Given the description of an element on the screen output the (x, y) to click on. 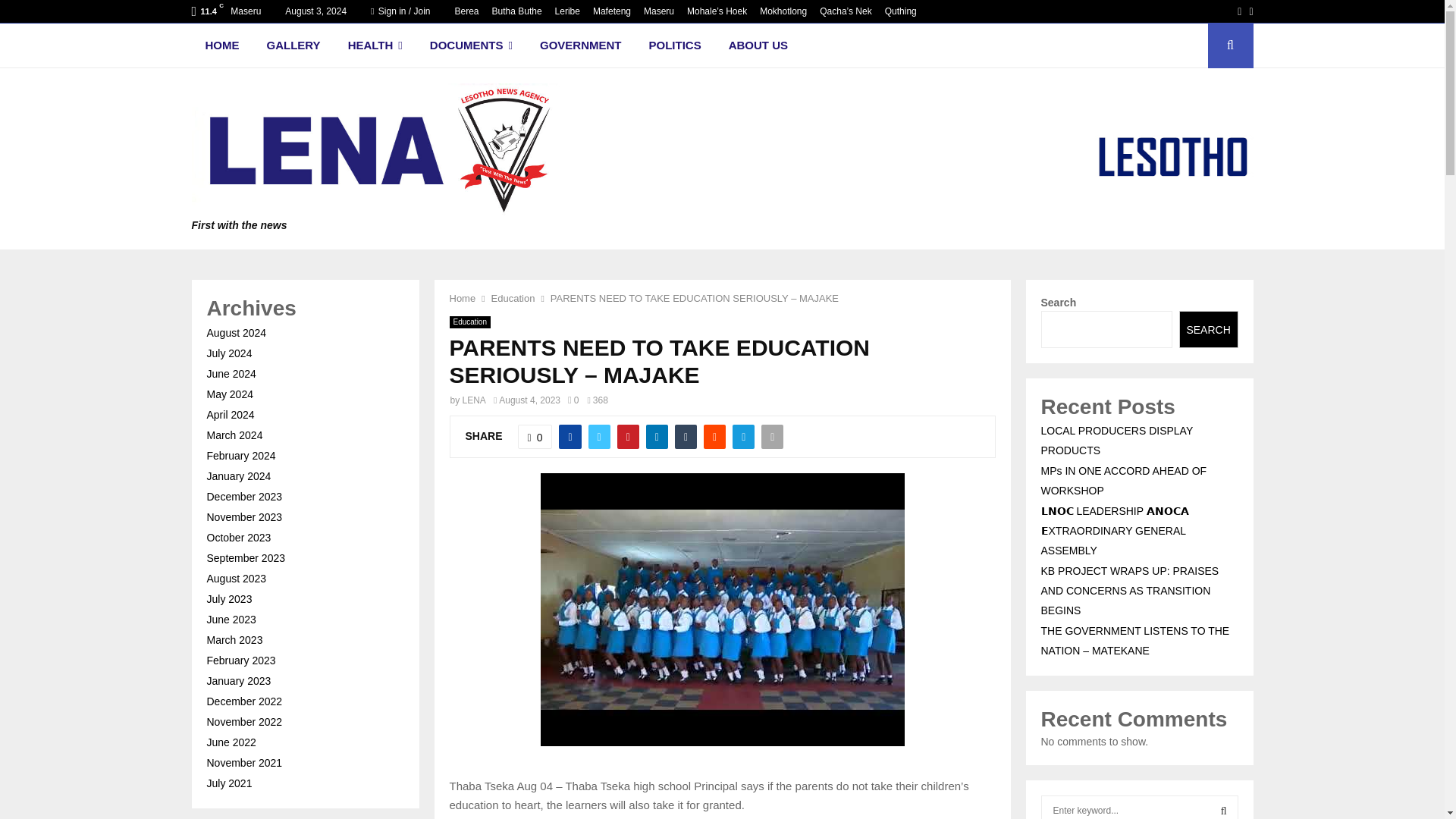
Login to your account (722, 293)
Sign up new account (722, 415)
Maseru (658, 11)
Mafeteng (611, 11)
HEALTH (375, 44)
Mokhotlong (783, 11)
GALLERY (293, 44)
Quthing (901, 11)
Leribe (566, 11)
HOME (220, 44)
Like (535, 358)
Berea (466, 11)
Butha Buthe (516, 11)
